Given the description of an element on the screen output the (x, y) to click on. 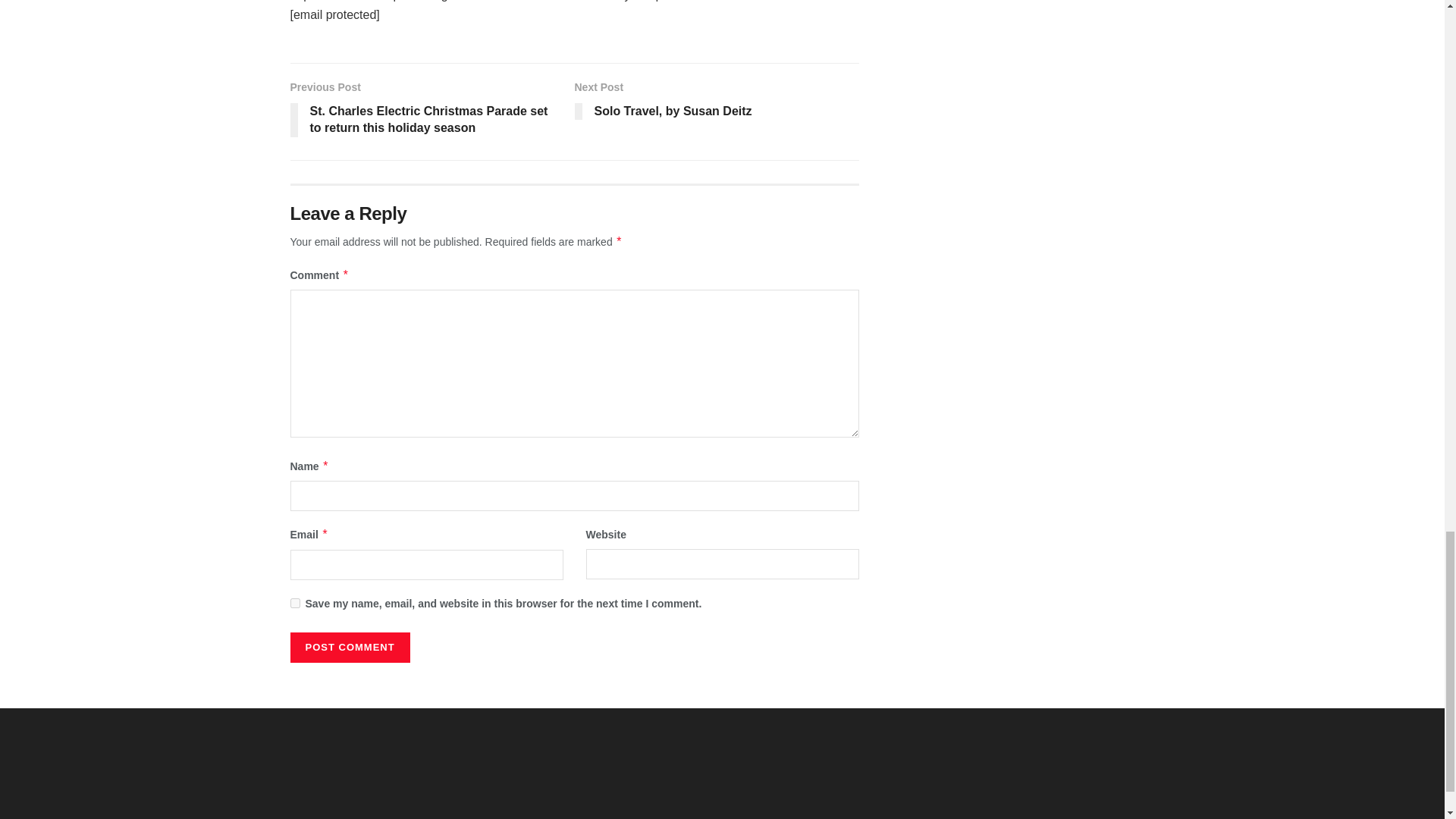
Post Comment (349, 647)
yes (294, 603)
Post Comment (717, 102)
